Given the description of an element on the screen output the (x, y) to click on. 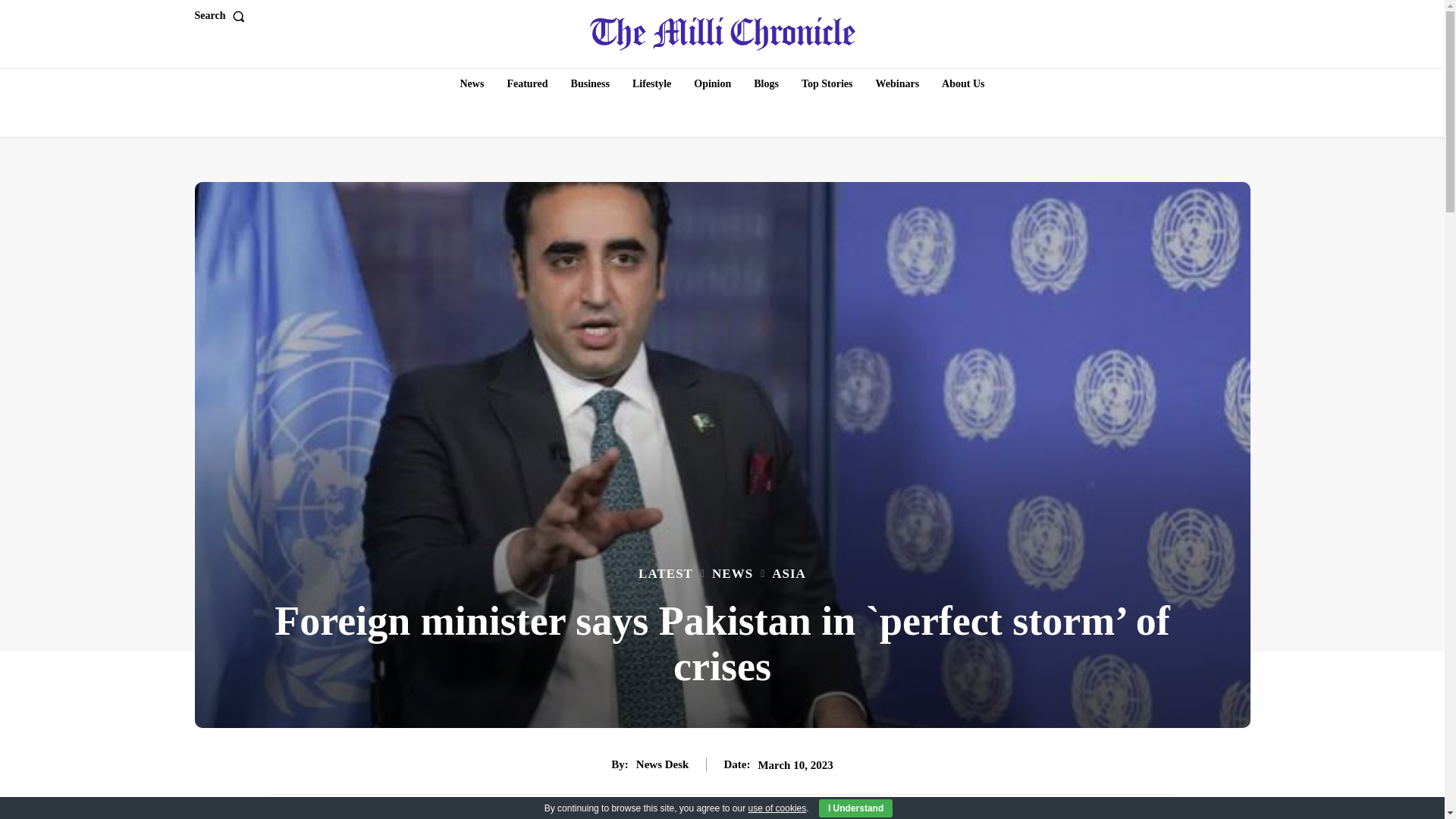
Search (221, 15)
Lifestyle (651, 83)
Business (590, 83)
News (471, 83)
Featured (526, 83)
